Given the description of an element on the screen output the (x, y) to click on. 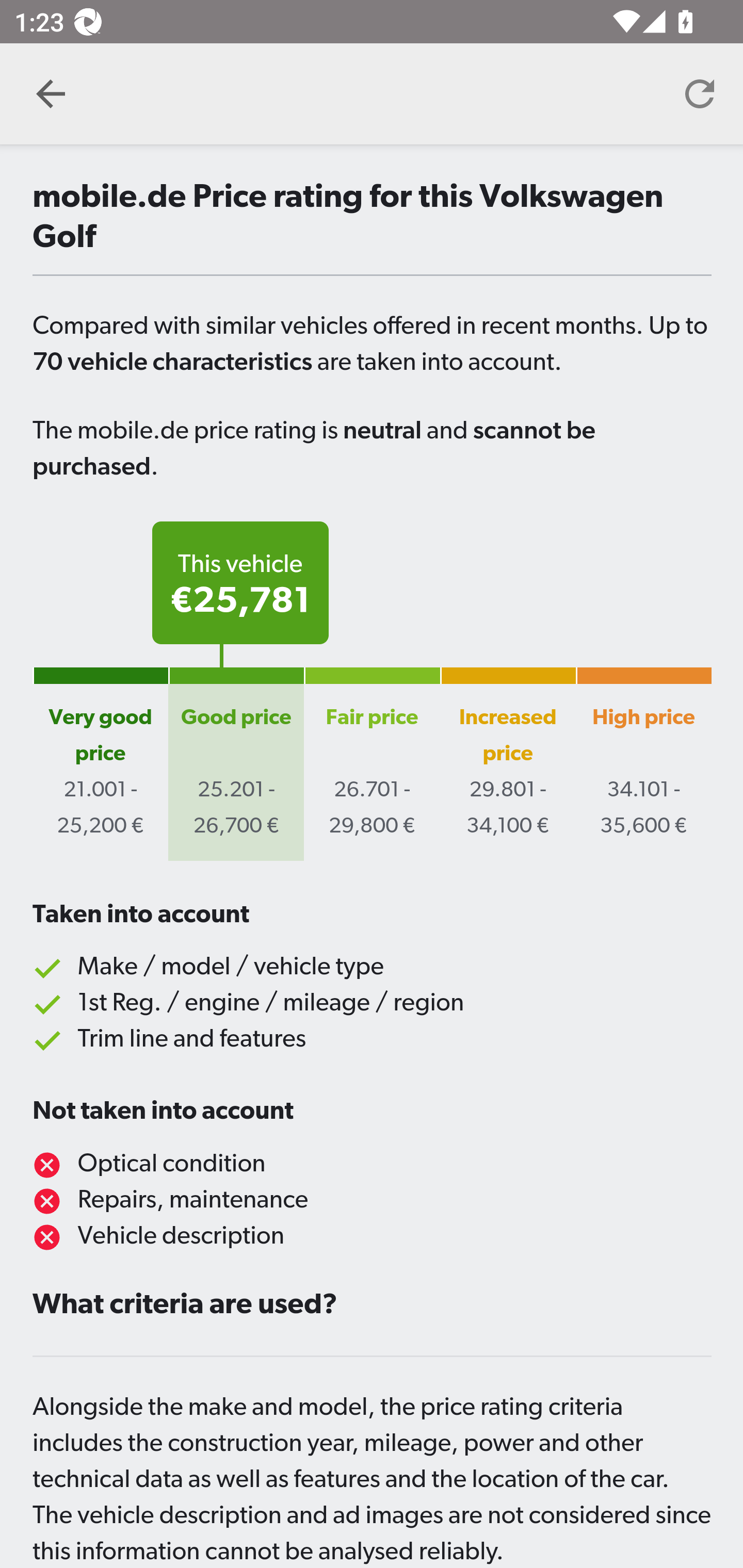
Navigate up (50, 93)
synchronize (699, 93)
